Given the description of an element on the screen output the (x, y) to click on. 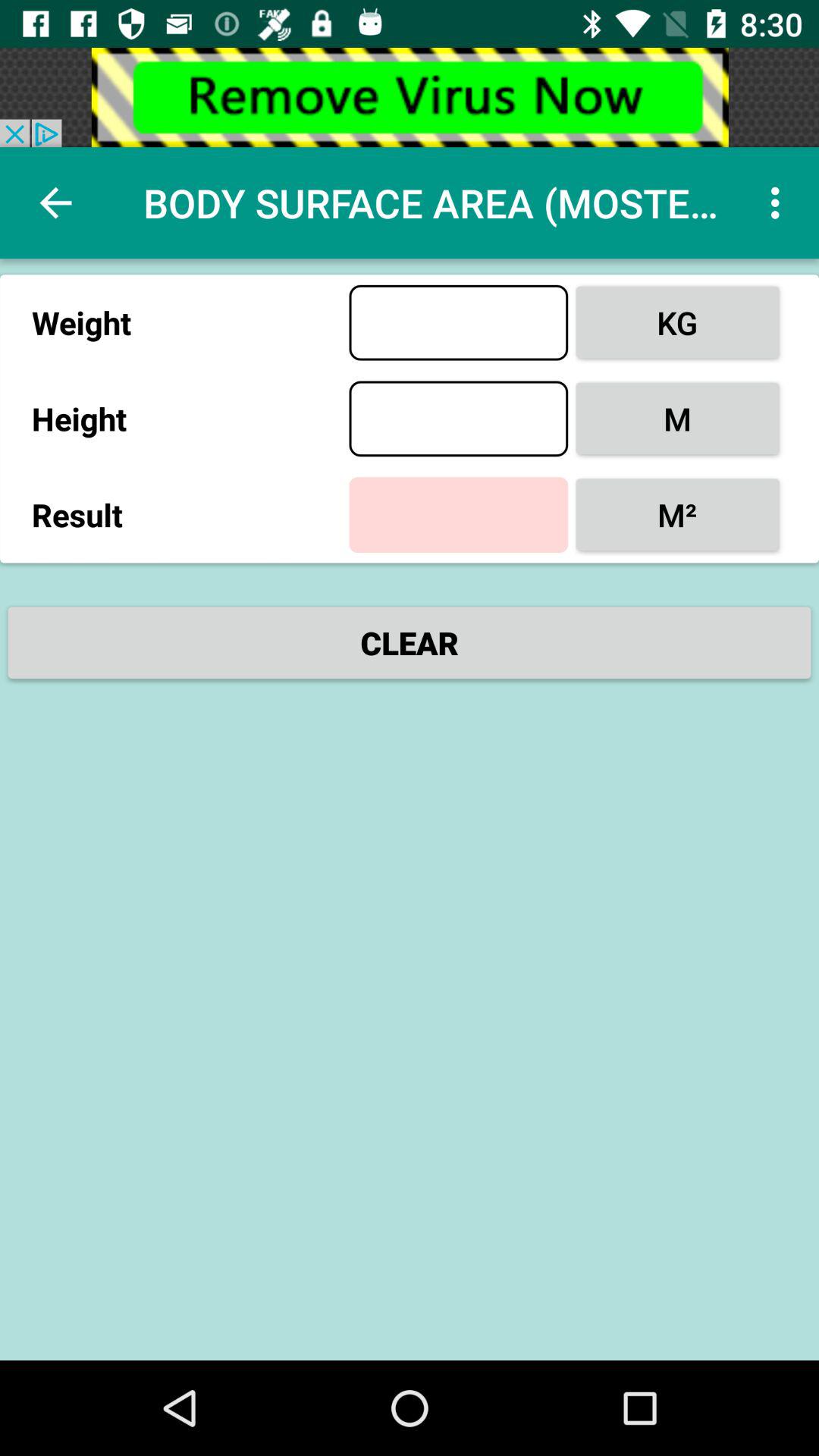
insert for height (458, 418)
